Given the description of an element on the screen output the (x, y) to click on. 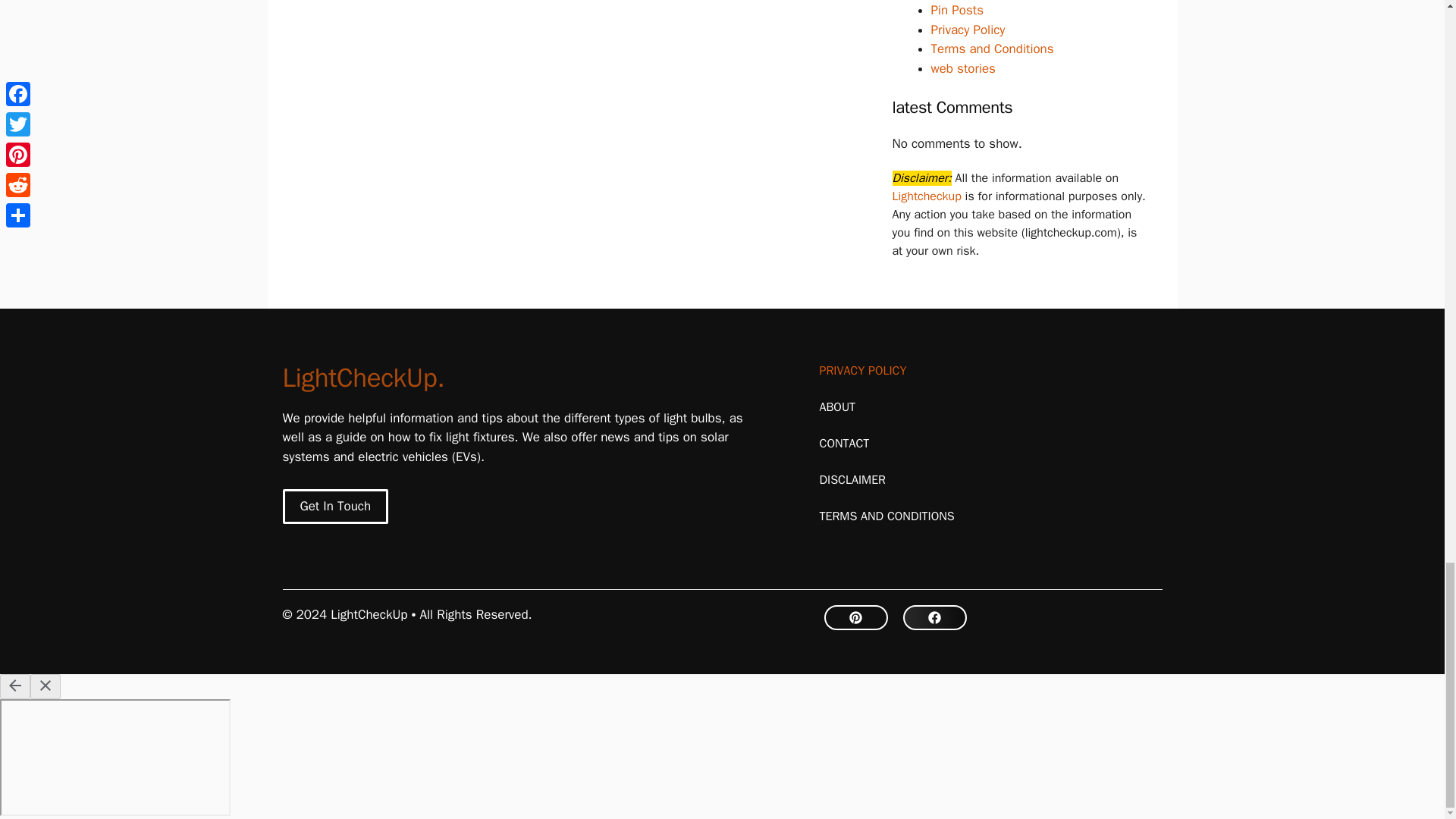
Privacy Policy (968, 29)
Pin Posts (957, 10)
Terms and Conditions (992, 48)
Lightcheckup (927, 196)
web stories (963, 68)
